Given the description of an element on the screen output the (x, y) to click on. 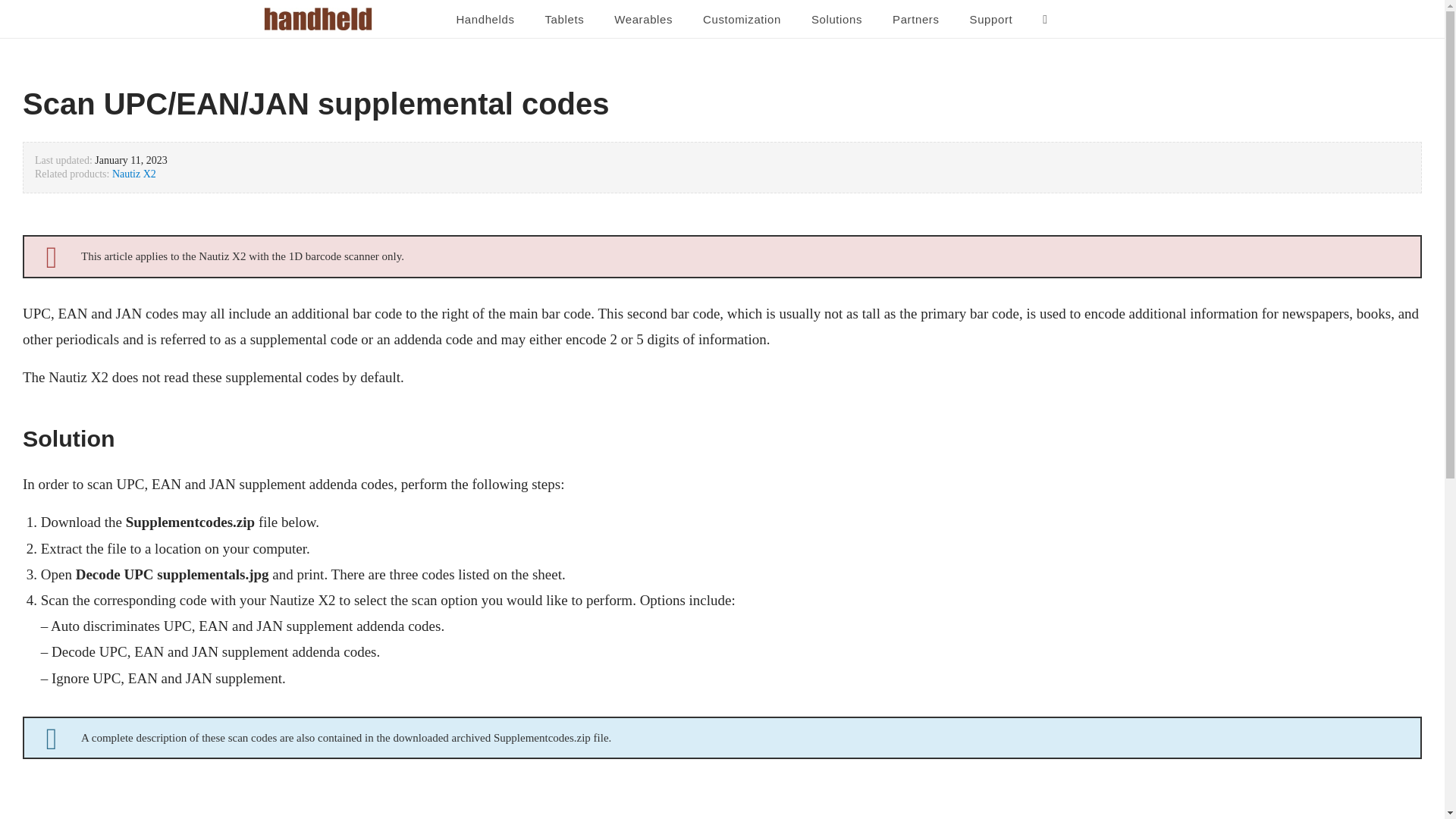
Handhelds (485, 19)
Partners (916, 19)
Customization (741, 19)
Nautiz X2 (133, 173)
Handheld Logotype (317, 18)
Support (991, 19)
Solutions (836, 19)
Tablets (564, 19)
Wearables (642, 19)
